Given the description of an element on the screen output the (x, y) to click on. 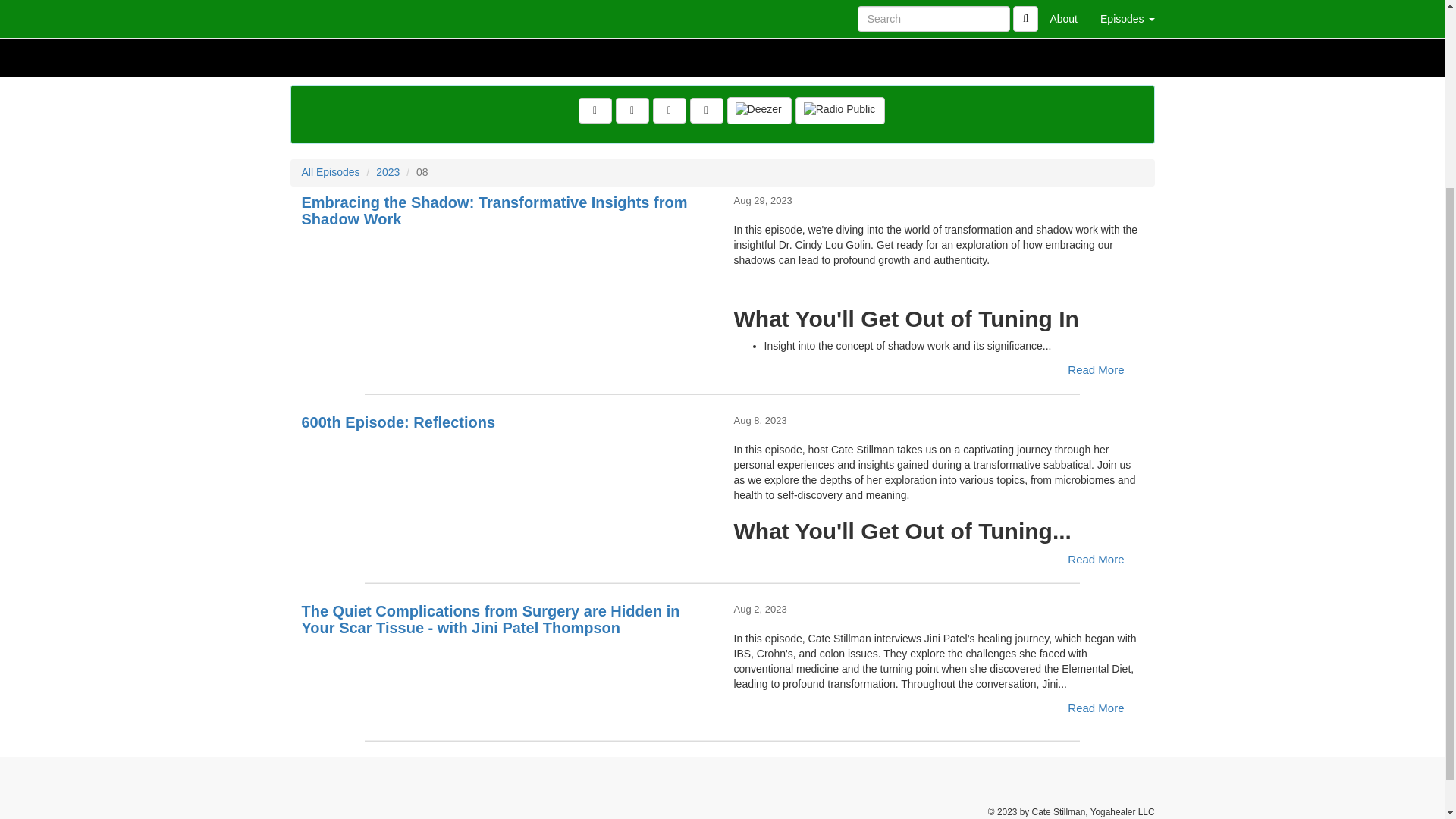
Visit Us on Twitter (632, 110)
600th Episode: Reflections (506, 468)
Listen on Radio Public (839, 110)
Visit Us on Facebook (594, 110)
Subscribe to RSS Feed (706, 110)
Email This Podcast (668, 110)
Listen on Deezer (759, 110)
